Given the description of an element on the screen output the (x, y) to click on. 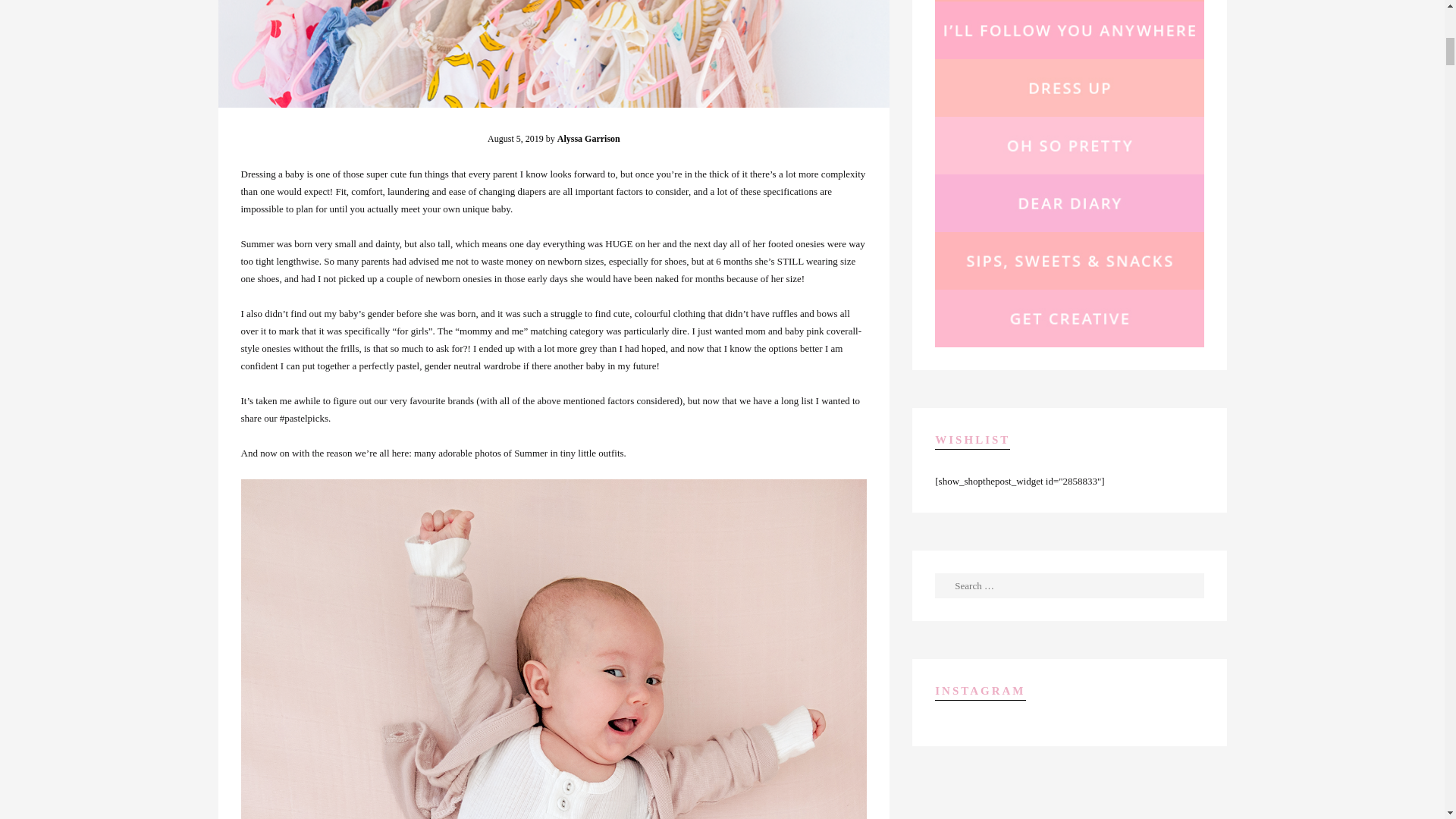
Alyssa Garrison (588, 138)
August 5, 2019 (515, 138)
